Given the description of an element on the screen output the (x, y) to click on. 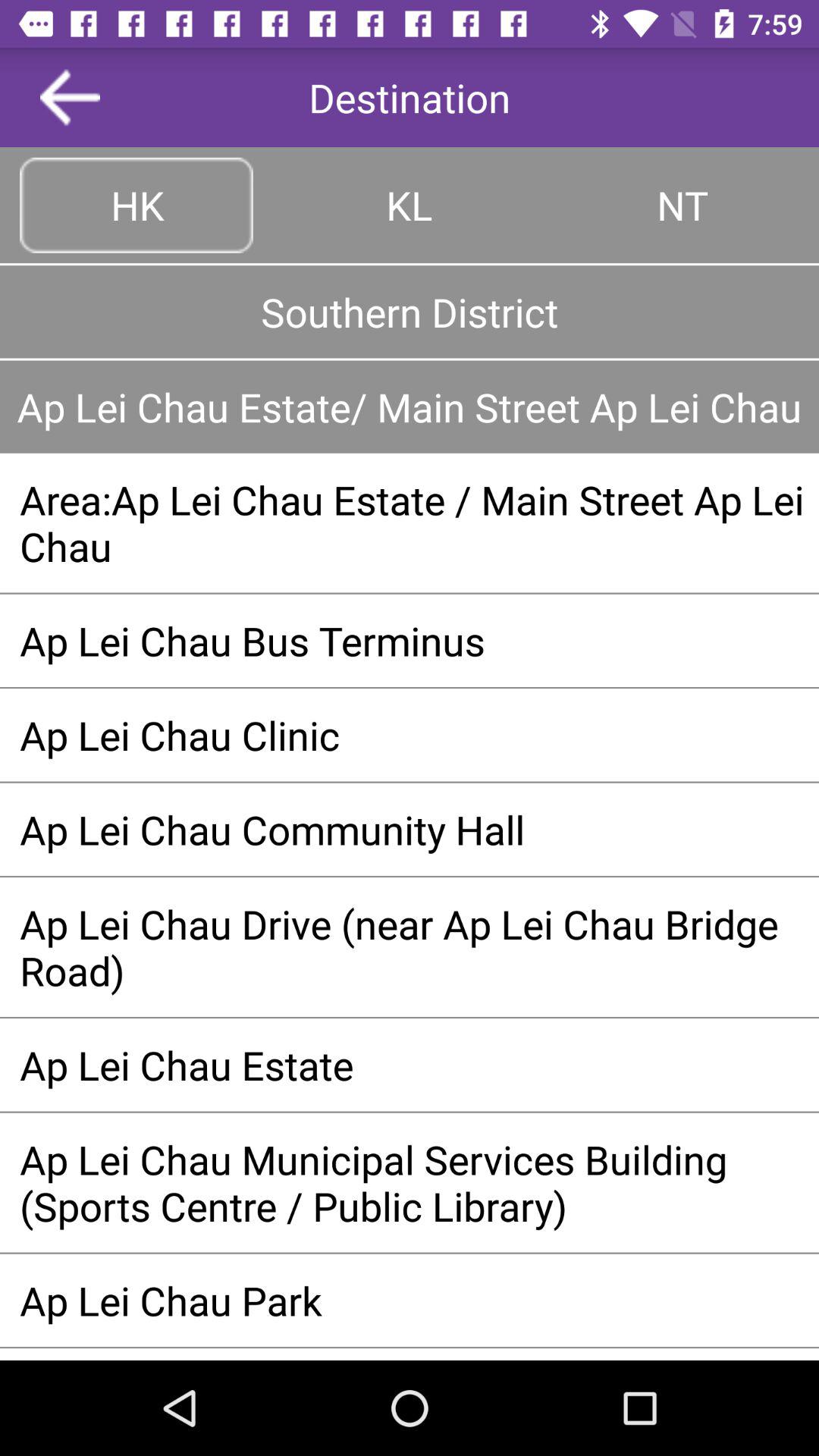
launch nt item (682, 205)
